Given the description of an element on the screen output the (x, y) to click on. 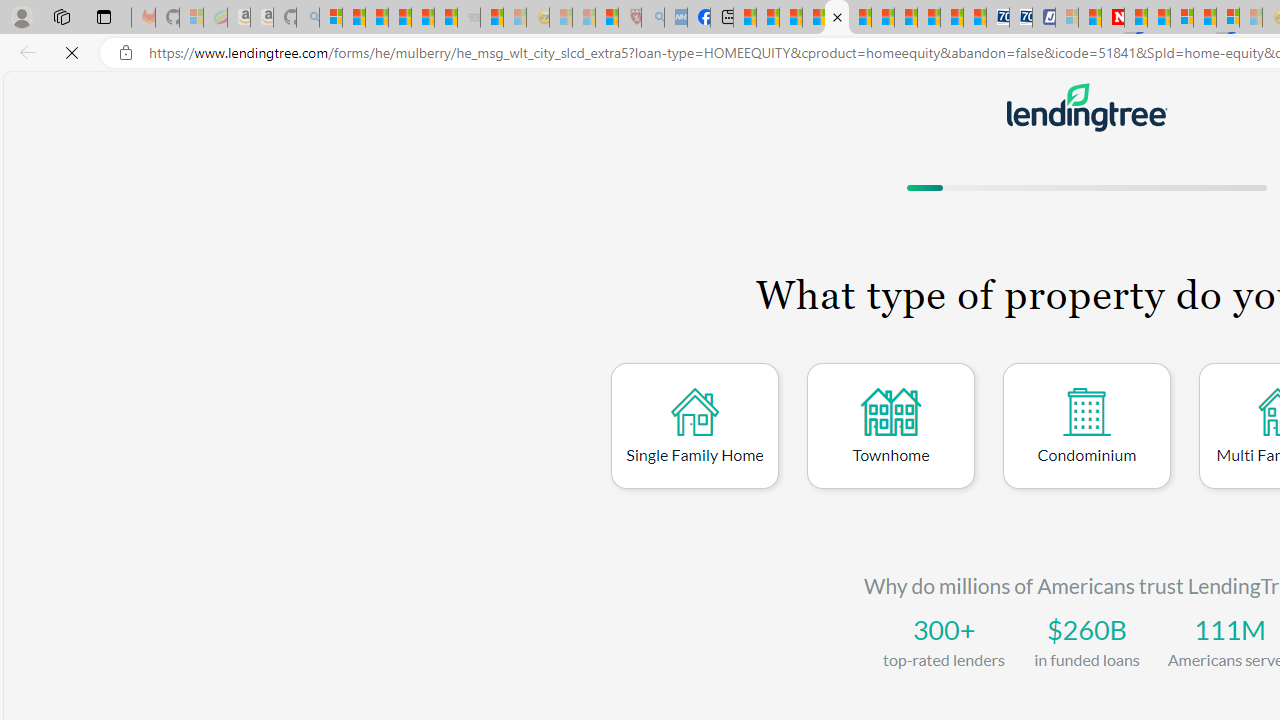
Cheap Hotels - Save70.com (1020, 17)
World - MSN (790, 17)
Latest Politics News & Archive | Newsweek.com (1112, 17)
Cheap Car Rentals - Save70.com (997, 17)
14 Common Myths Debunked By Scientific Facts (1158, 17)
